Given the description of an element on the screen output the (x, y) to click on. 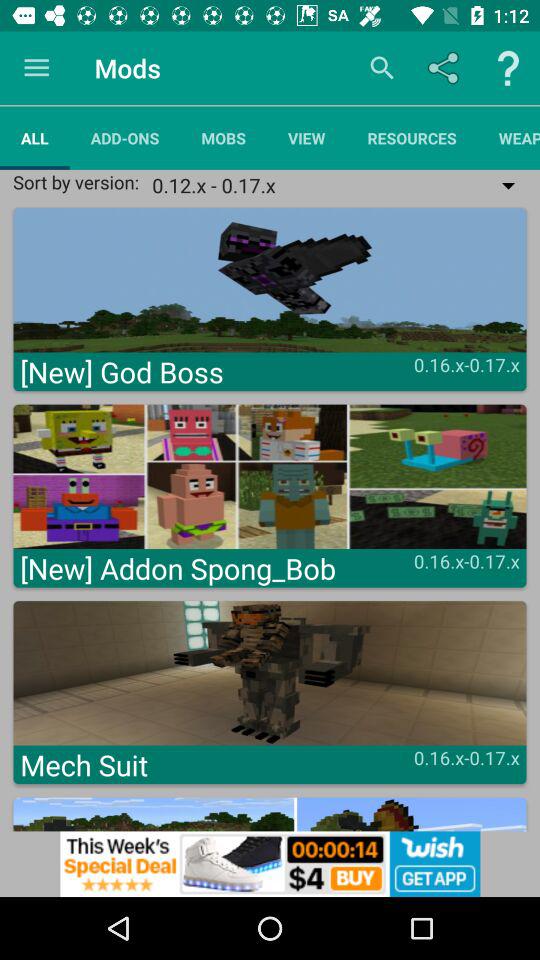
help (508, 67)
